Given the description of an element on the screen output the (x, y) to click on. 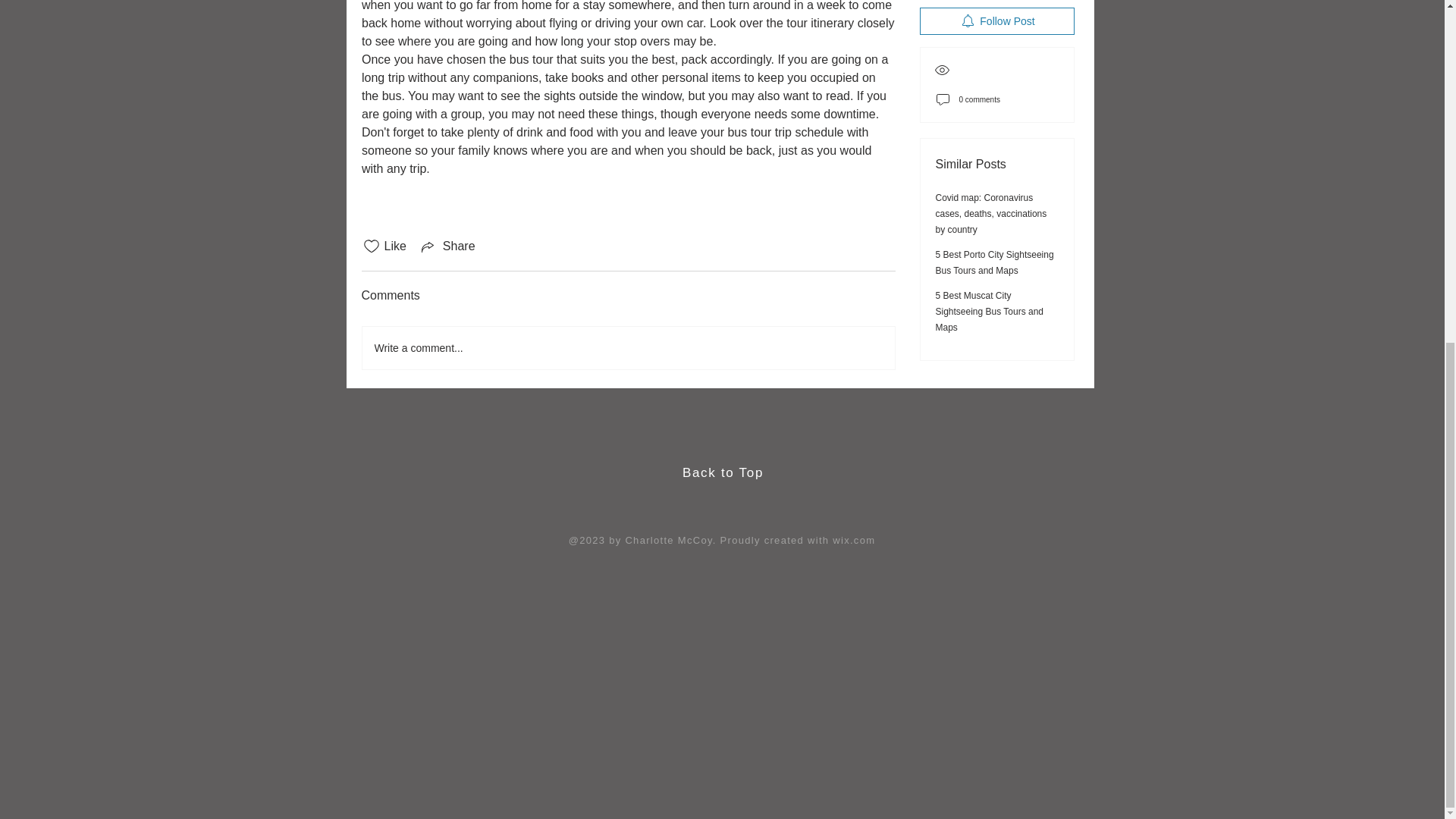
Share (447, 246)
Write a comment... (628, 347)
